Given the description of an element on the screen output the (x, y) to click on. 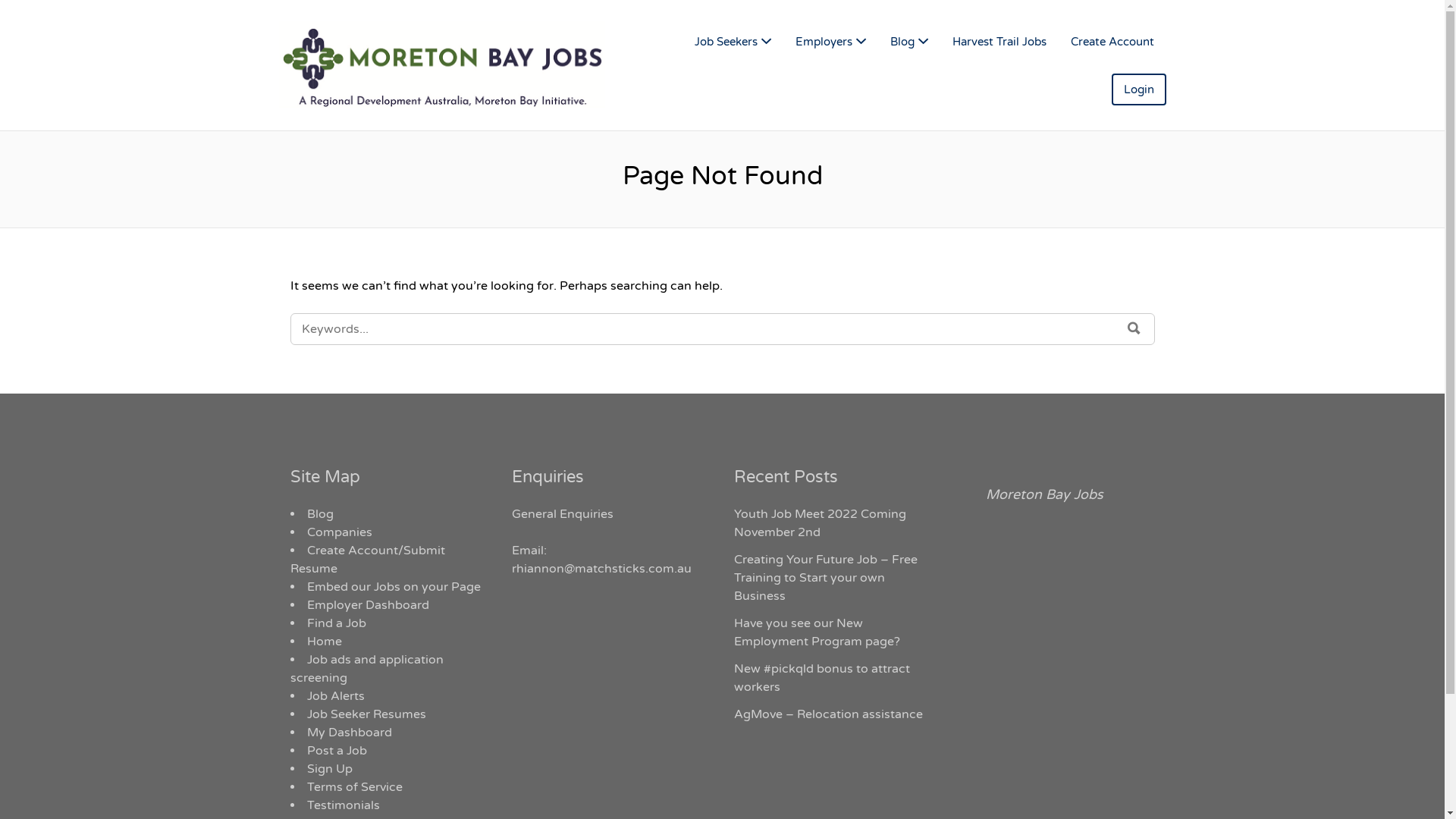
Job Seeker Resumes Element type: text (365, 713)
Employer Dashboard Element type: text (367, 604)
Harvest Trail Jobs Element type: text (999, 41)
Employers Element type: text (829, 41)
Testimonials Element type: text (342, 804)
My Dashboard Element type: text (348, 732)
Create Account/Submit Resume Element type: text (366, 559)
Terms of Service Element type: text (353, 786)
rhiannon@matchsticks.com.au Element type: text (601, 568)
Blog Element type: text (909, 41)
Companies Element type: text (338, 531)
MORETON BAY JOBS Element type: text (456, 65)
Moreton Bay Jobs Element type: text (1044, 494)
Sign Up Element type: text (328, 768)
Job Seekers Element type: text (732, 41)
Login Element type: text (1138, 88)
Job Alerts Element type: text (335, 695)
Home Element type: text (323, 641)
Post a Job Element type: text (336, 750)
Find a Job Element type: text (335, 622)
Youth Job Meet 2022 Coming November 2nd Element type: text (820, 522)
Job ads and application screening Element type: text (365, 668)
New #pickqld bonus to attract workers Element type: text (822, 677)
Create Account Element type: text (1112, 41)
Have you see our New Employment Program page? Element type: text (817, 632)
Blog Element type: text (319, 513)
Embed our Jobs on your Page Element type: text (393, 586)
